Given the description of an element on the screen output the (x, y) to click on. 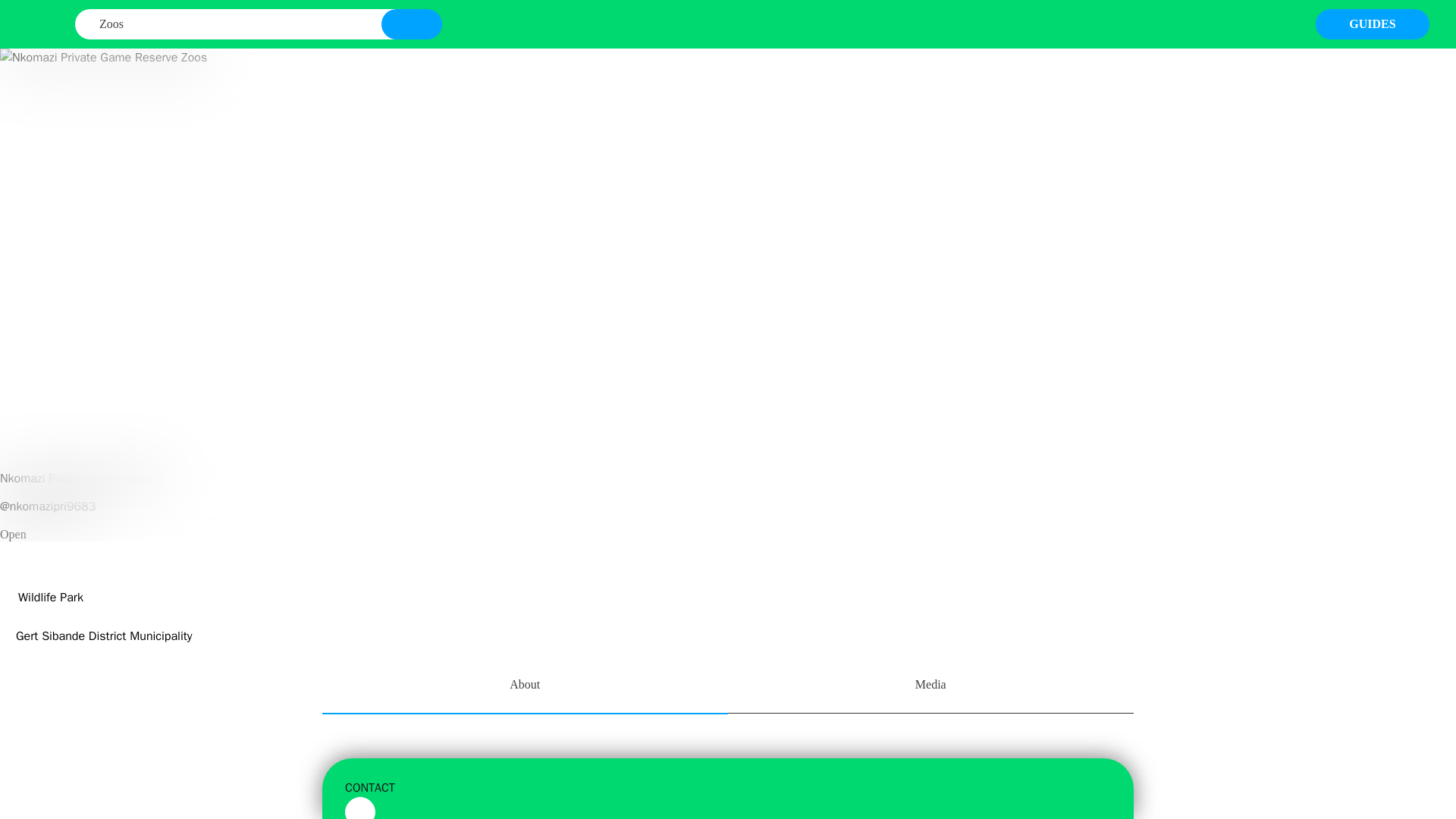
About (524, 686)
GUIDES (1372, 24)
Media (931, 686)
